Given the description of an element on the screen output the (x, y) to click on. 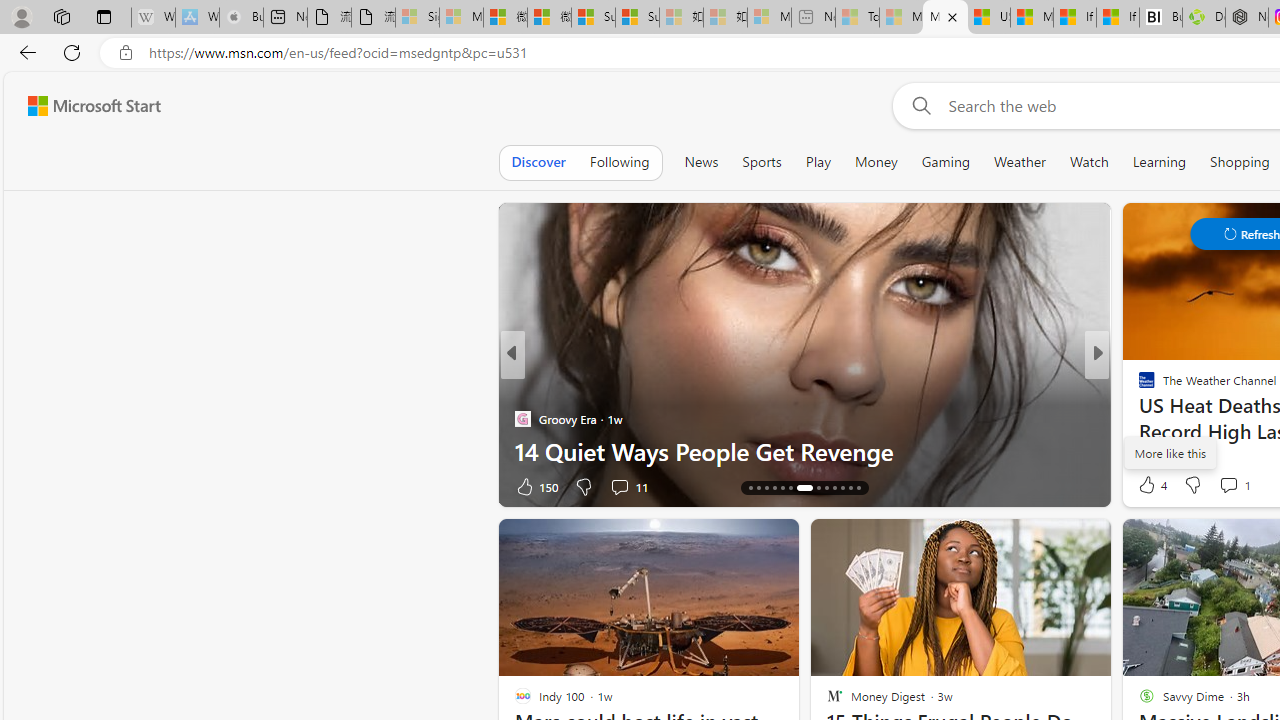
New tab (285, 17)
Web search (917, 105)
View comments 339 Comment (11, 485)
View comments 53 Comment (1234, 485)
Descarga Driver Updater (1203, 17)
Skip to content (86, 105)
Following (619, 162)
See more (1086, 542)
You're following MSNBC (445, 490)
Weather (1019, 162)
This story is trending (449, 490)
Learning (1159, 161)
Play (818, 162)
View comments 2 Comment (1234, 486)
AutomationID: tab-17 (774, 487)
